Given the description of an element on the screen output the (x, y) to click on. 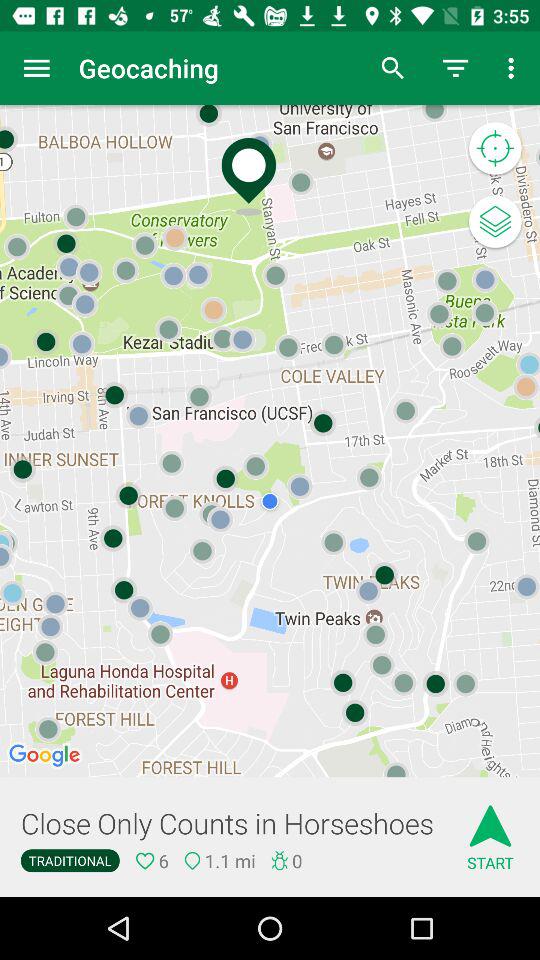
choose icon next to geocaching item (36, 68)
